Given the description of an element on the screen output the (x, y) to click on. 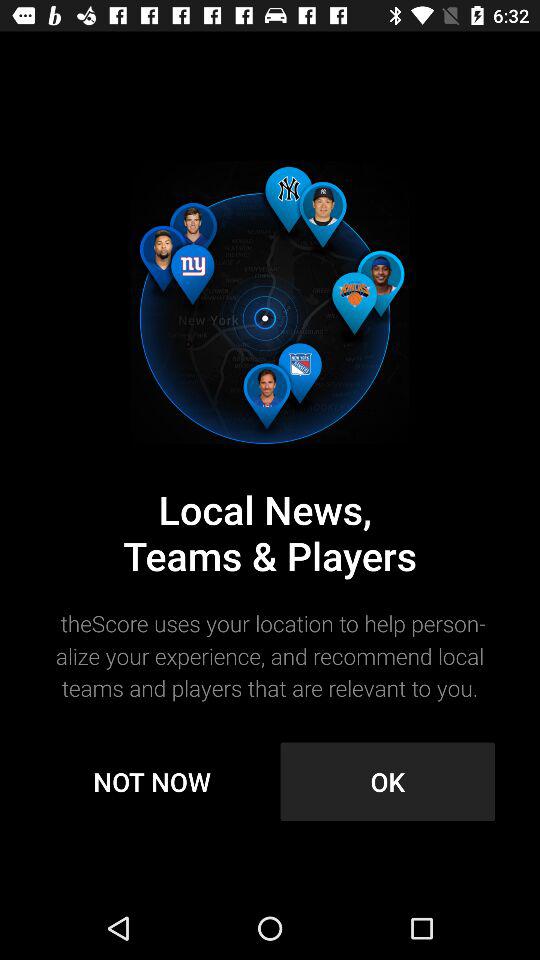
scroll until not now (152, 781)
